Given the description of an element on the screen output the (x, y) to click on. 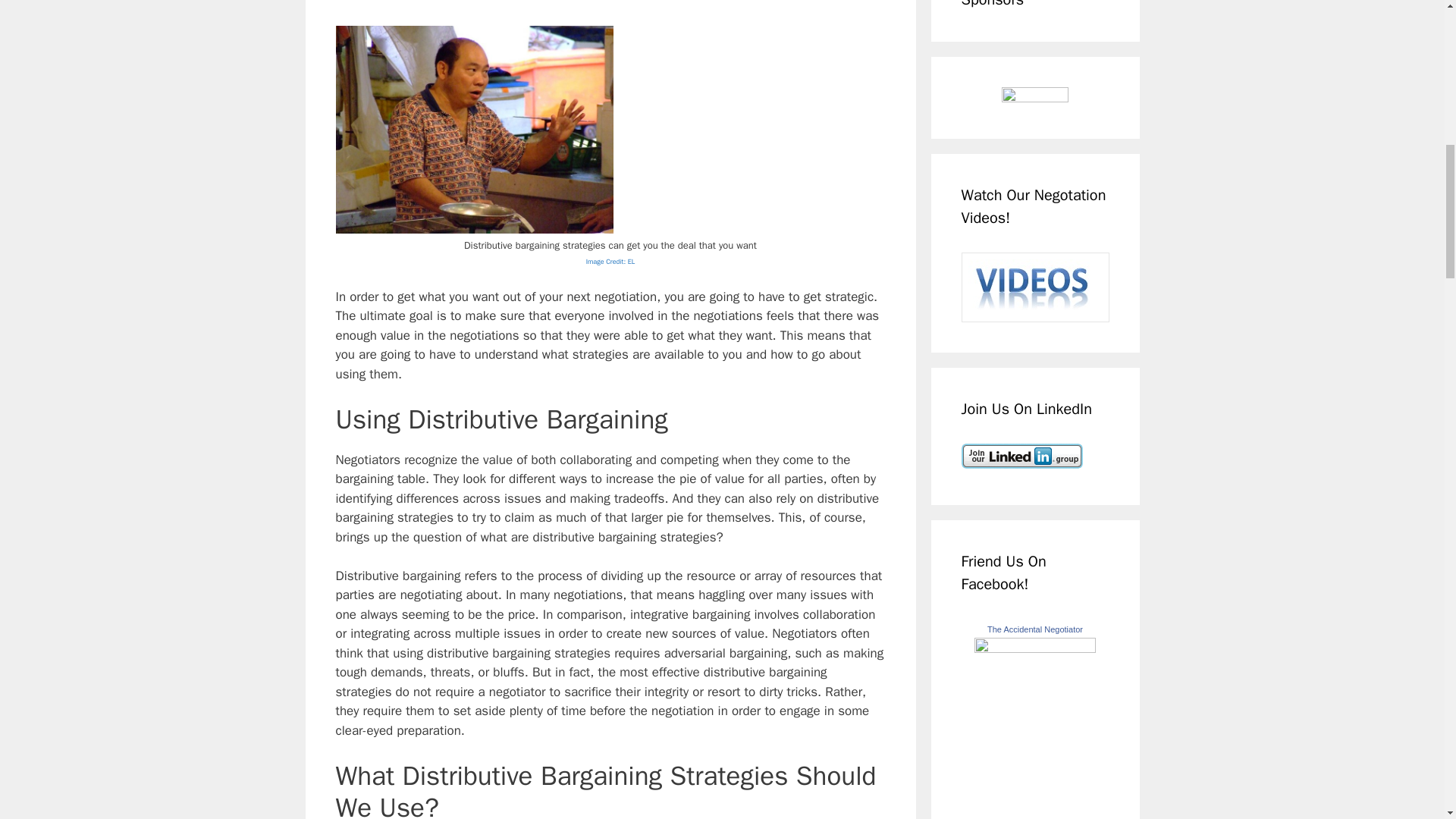
The Accidental Negotiator (1035, 628)
Image Credit: EL (610, 259)
The Accidental Negotiator (1035, 628)
The Accidental Negotiator (1035, 648)
